Given the description of an element on the screen output the (x, y) to click on. 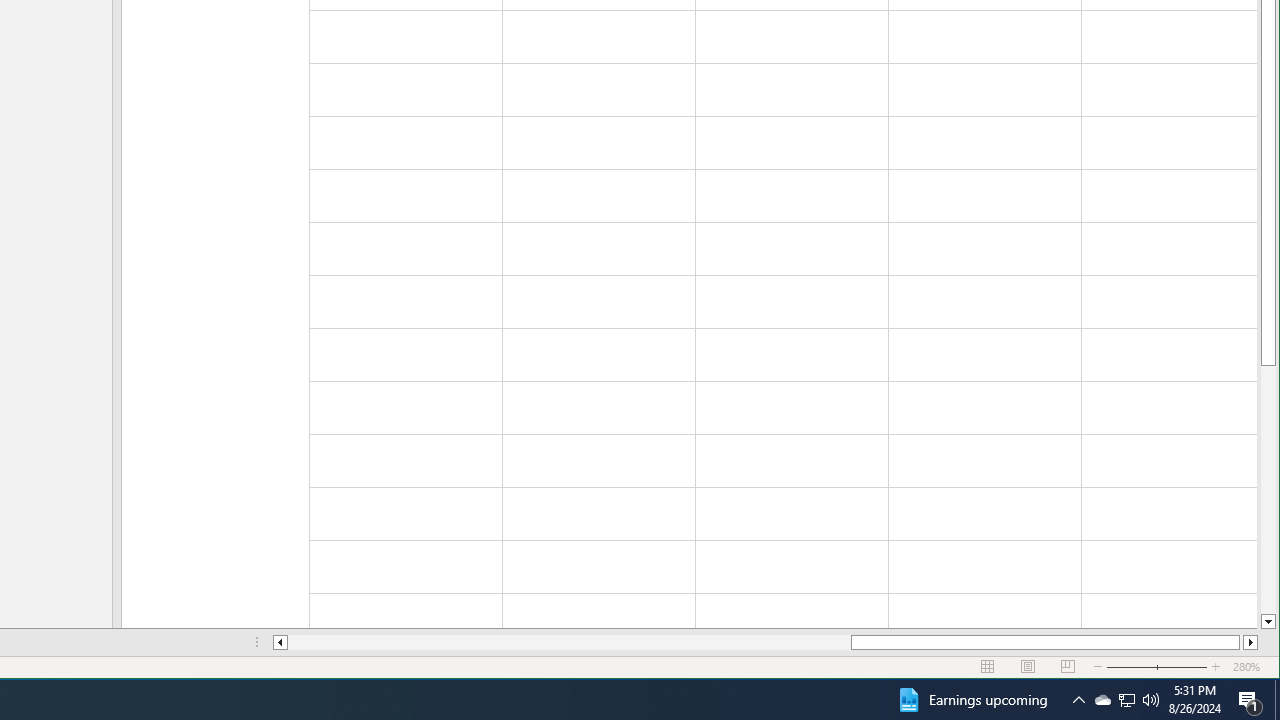
Action Center, 1 new notification (1250, 699)
Page down (1268, 489)
Earnings upcoming (971, 699)
Q2790: 100% (1151, 699)
Notification Chevron (1078, 699)
User Promoted Notification Area (1102, 699)
Show desktop (1126, 699)
